Given the description of an element on the screen output the (x, y) to click on. 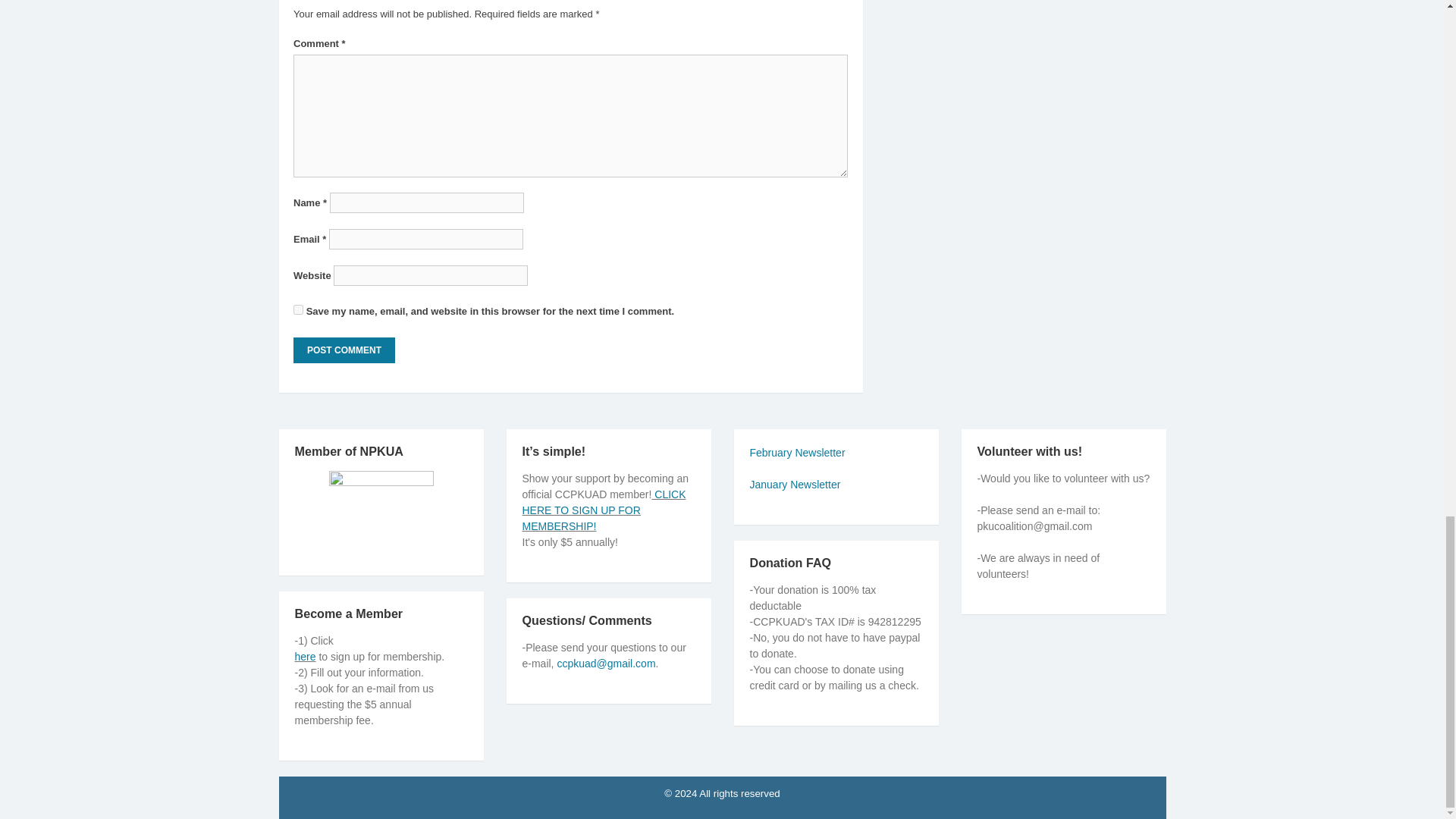
CLICK HERE TO SIGN UP FOR MEMBERSHIP! (603, 510)
yes (298, 309)
Post Comment (344, 350)
here (304, 656)
January Newsletter (794, 484)
Post Comment (344, 350)
February Newsletter (796, 452)
